Given the description of an element on the screen output the (x, y) to click on. 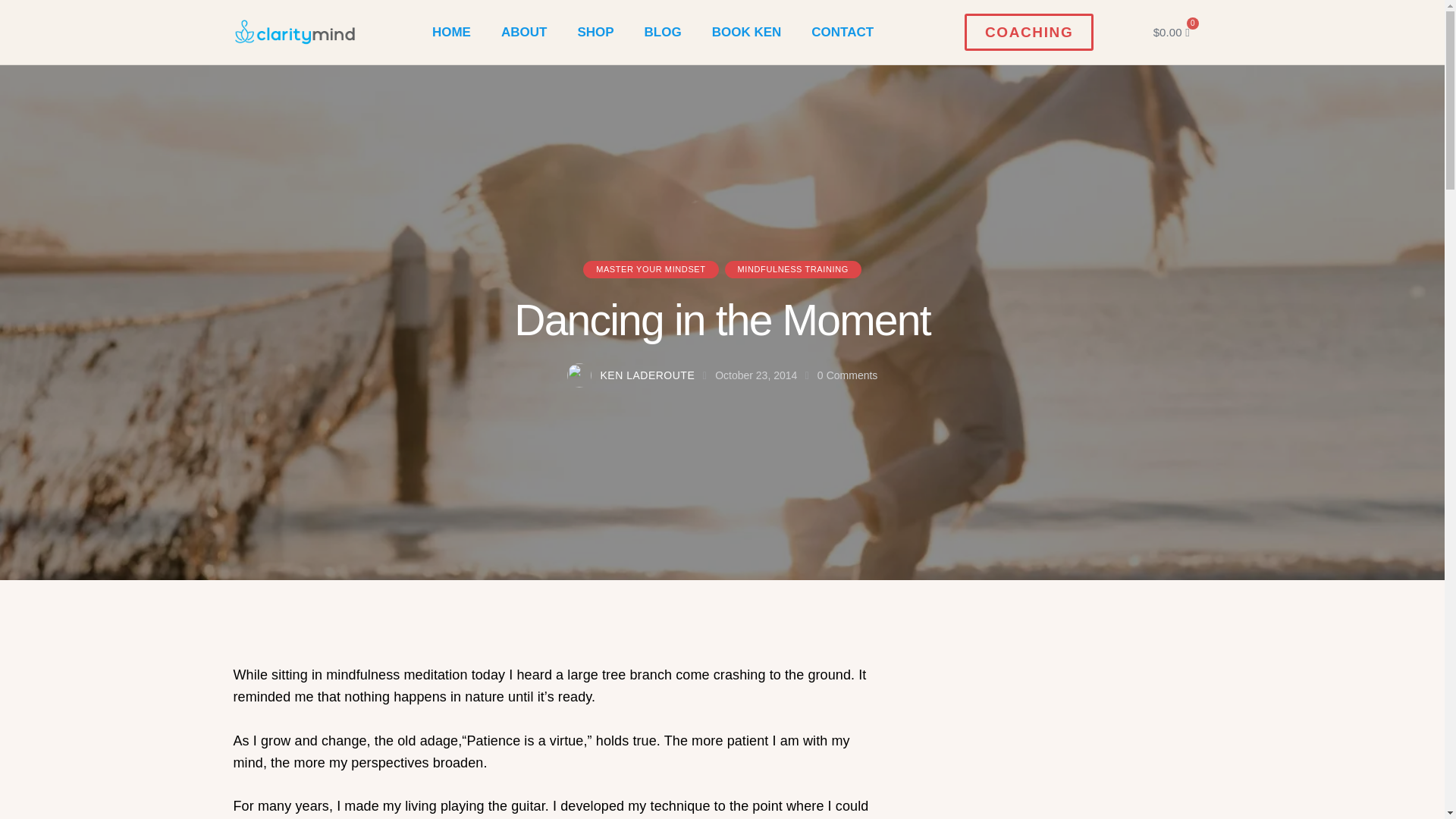
CONTACT (842, 32)
BLOG (662, 32)
BOOK KEN (746, 32)
ABOUT (524, 32)
HOME (451, 32)
SHOP (595, 32)
COACHING (1028, 31)
